Given the description of an element on the screen output the (x, y) to click on. 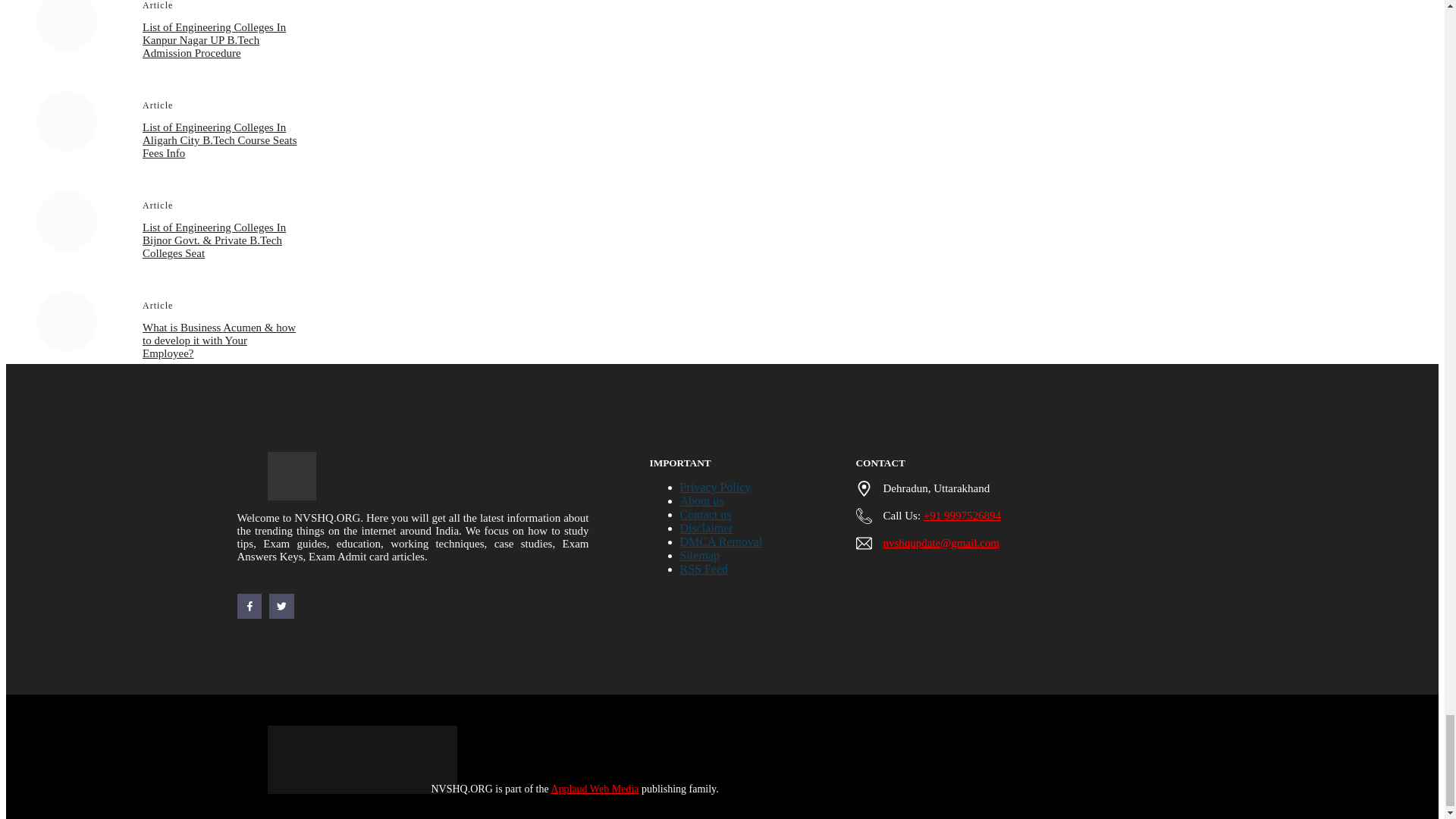
Logo1-250 (361, 759)
nvshq logo2 (290, 476)
